Given the description of an element on the screen output the (x, y) to click on. 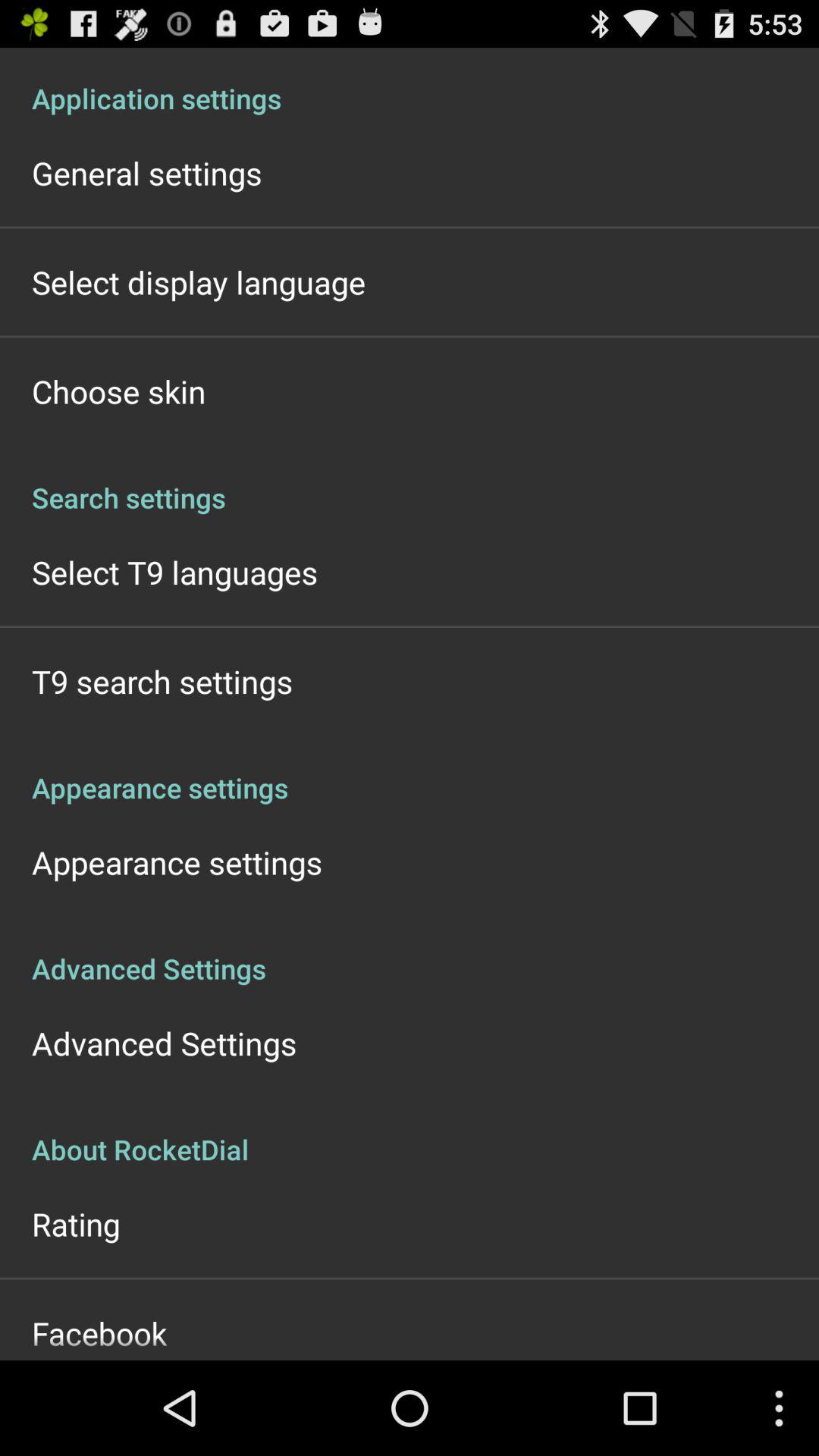
open app below select display language icon (118, 390)
